Given the description of an element on the screen output the (x, y) to click on. 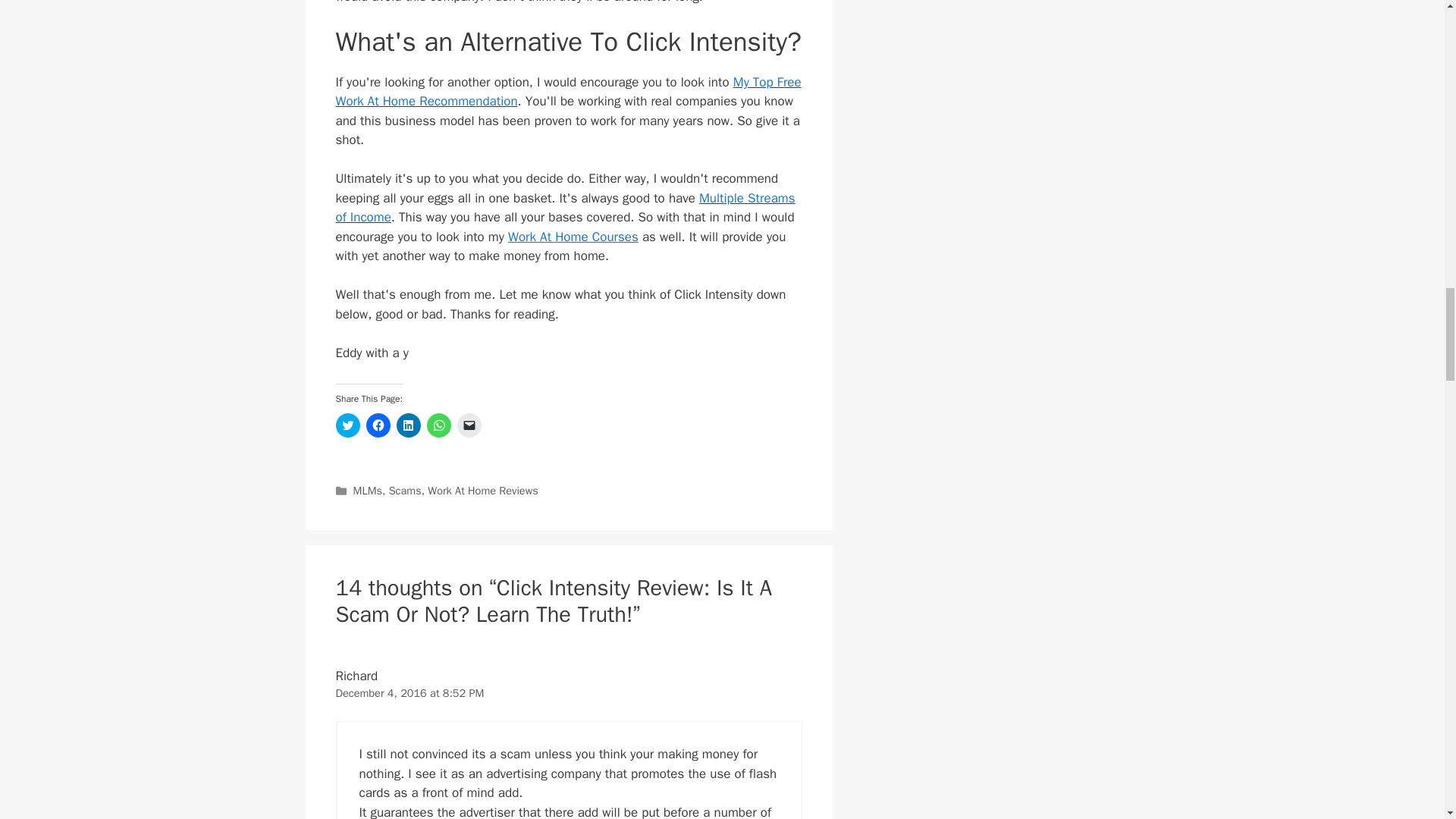
Work At Home Courses (573, 236)
Click to share on Twitter (346, 425)
December 4, 2016 at 8:52 PM (408, 693)
Multiple Streams of Income (564, 208)
My Top Free Work At Home Recommendation (567, 91)
MLMs (367, 490)
Work At Home Reviews (482, 490)
Scams (405, 490)
Click to share on Facebook (377, 425)
